Given the description of an element on the screen output the (x, y) to click on. 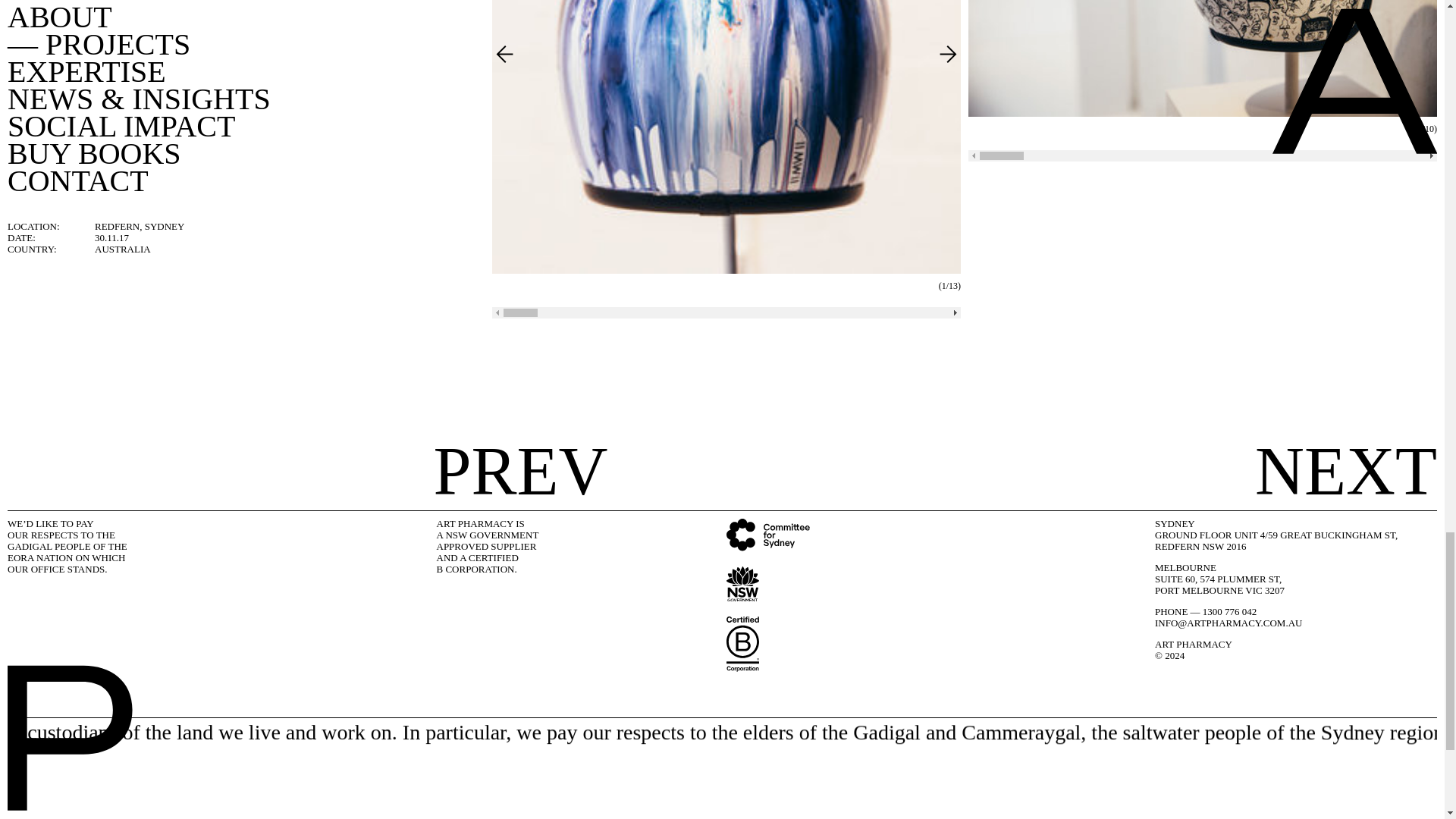
Page 17 (493, 546)
Page 17 (75, 546)
Page 17 (1293, 589)
